Given the description of an element on the screen output the (x, y) to click on. 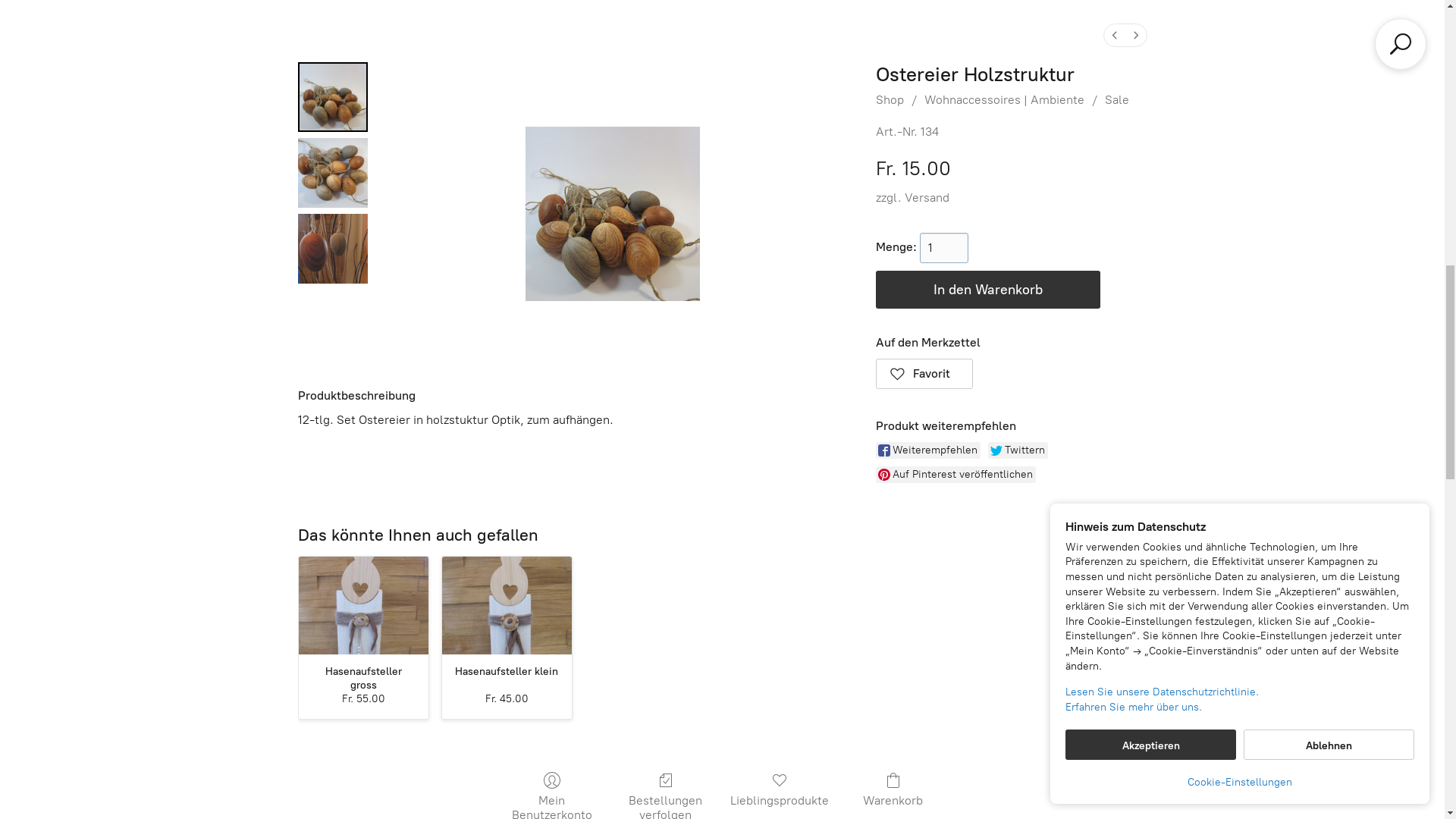
Kontakt Element type: text (219, 29)
Ort Element type: text (164, 29)
Shop Element type: text (43, 29)
Jetzt shoppen Element type: text (1044, 576)
